Given the description of an element on the screen output the (x, y) to click on. 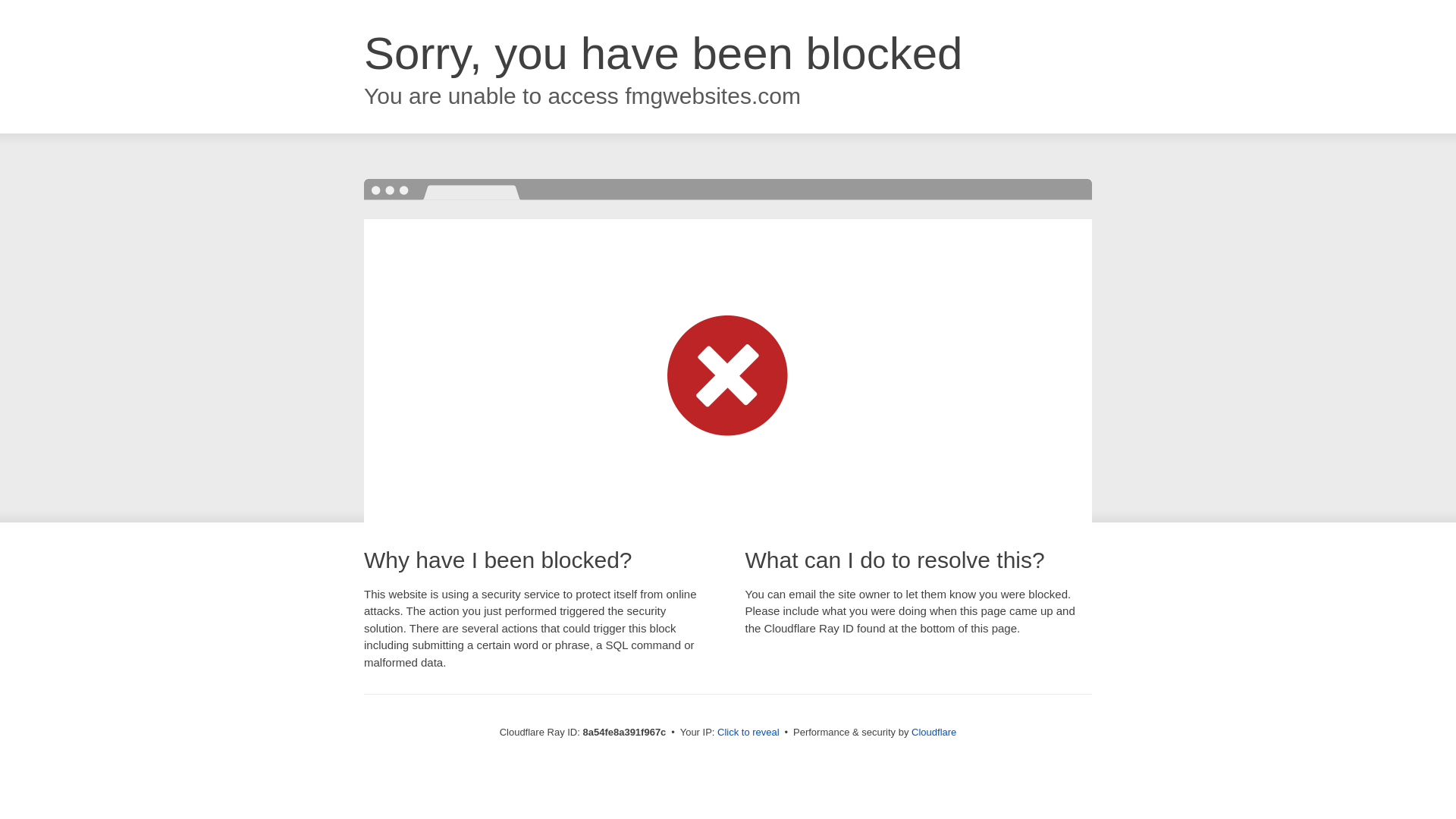
Cloudflare (933, 731)
Click to reveal (747, 732)
